Given the description of an element on the screen output the (x, y) to click on. 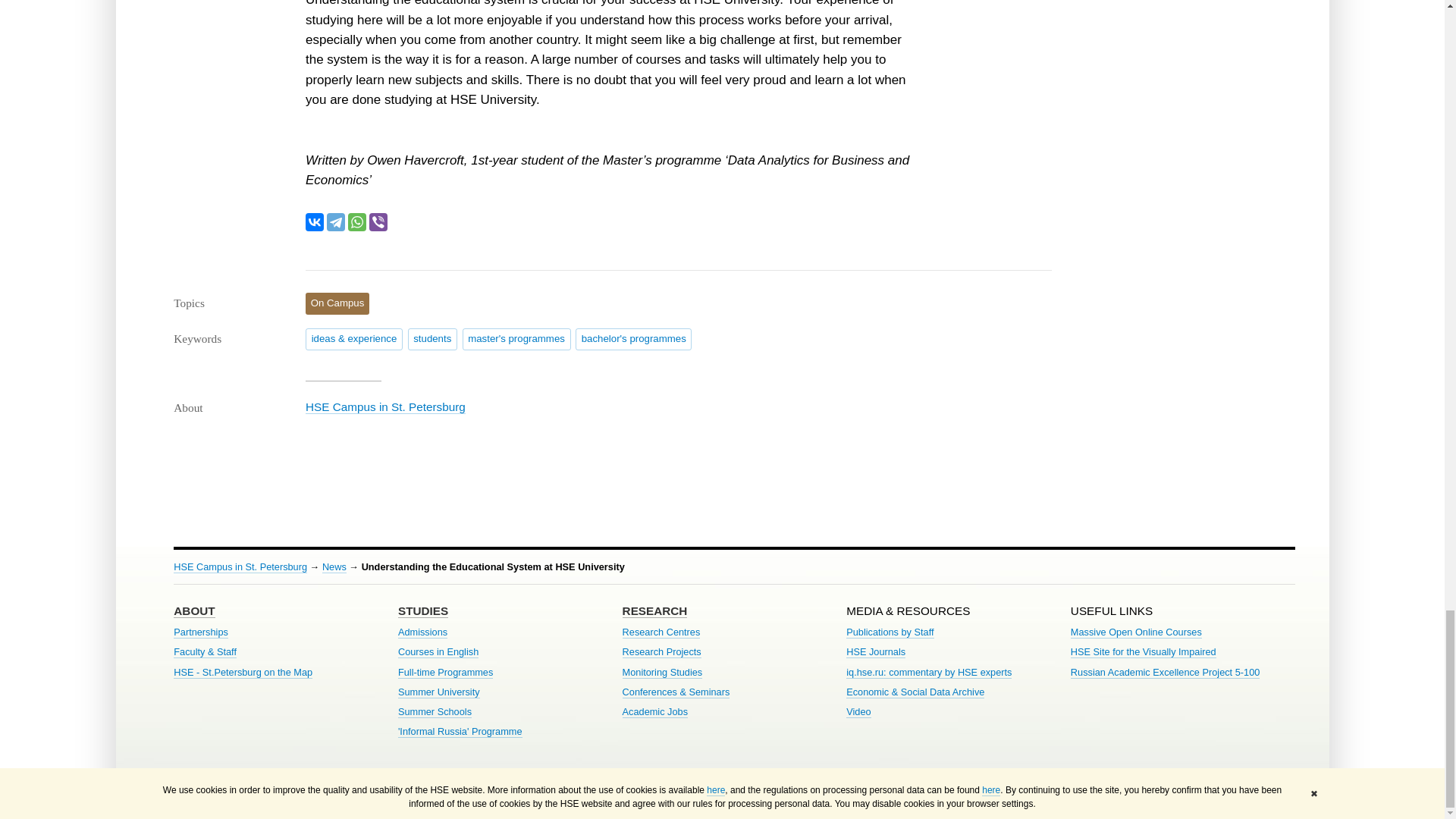
Telegram (335, 221)
WhatsApp (356, 221)
Viber (378, 221)
VKontakte (314, 221)
